Given the description of an element on the screen output the (x, y) to click on. 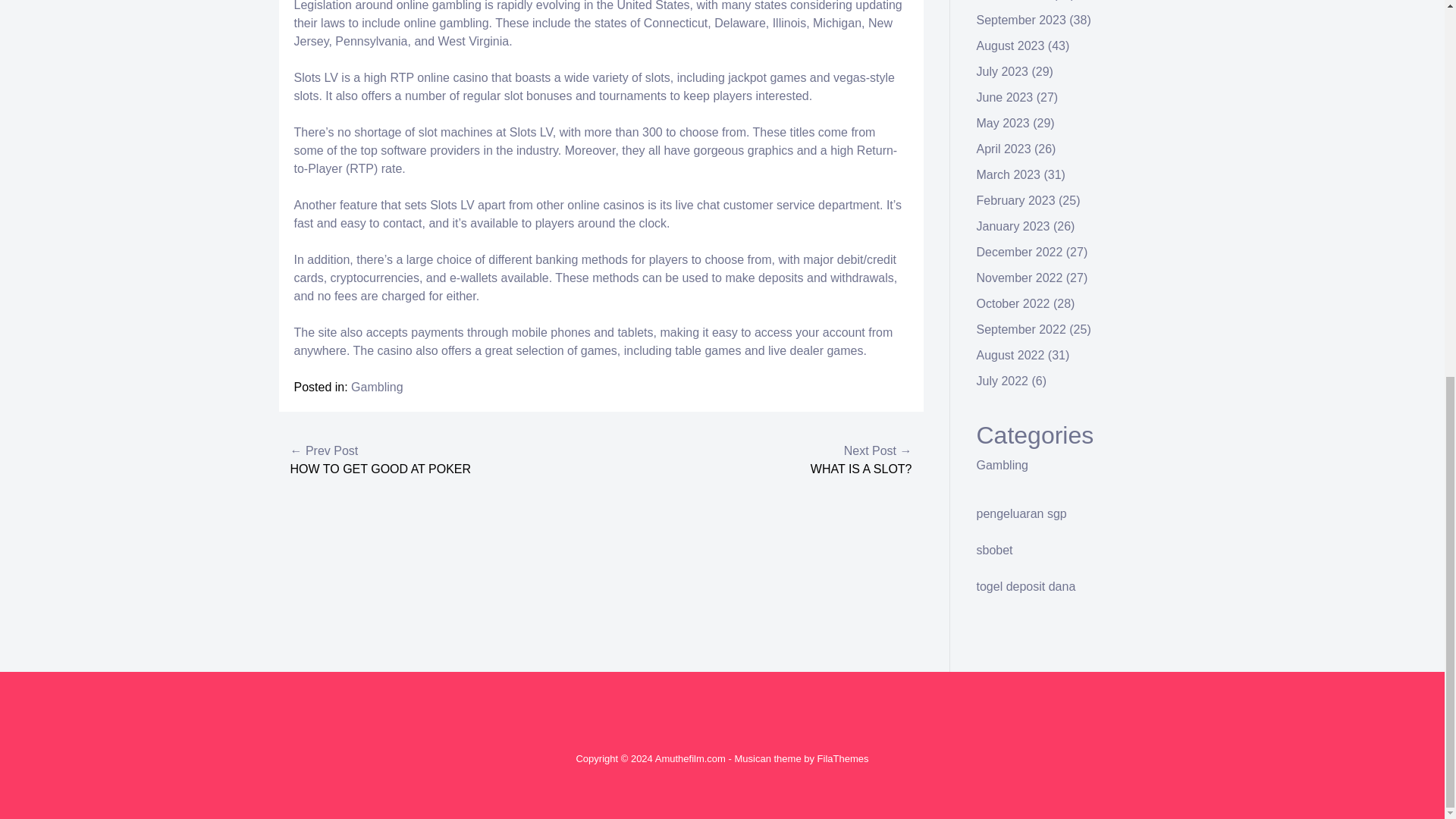
April 2023 (1003, 148)
July 2023 (1002, 71)
October 2022 (1012, 303)
January 2023 (1012, 226)
June 2023 (1004, 97)
Gambling (1001, 464)
December 2022 (1019, 251)
September 2022 (1020, 328)
Gambling (376, 386)
March 2023 (1008, 174)
